Given the description of an element on the screen output the (x, y) to click on. 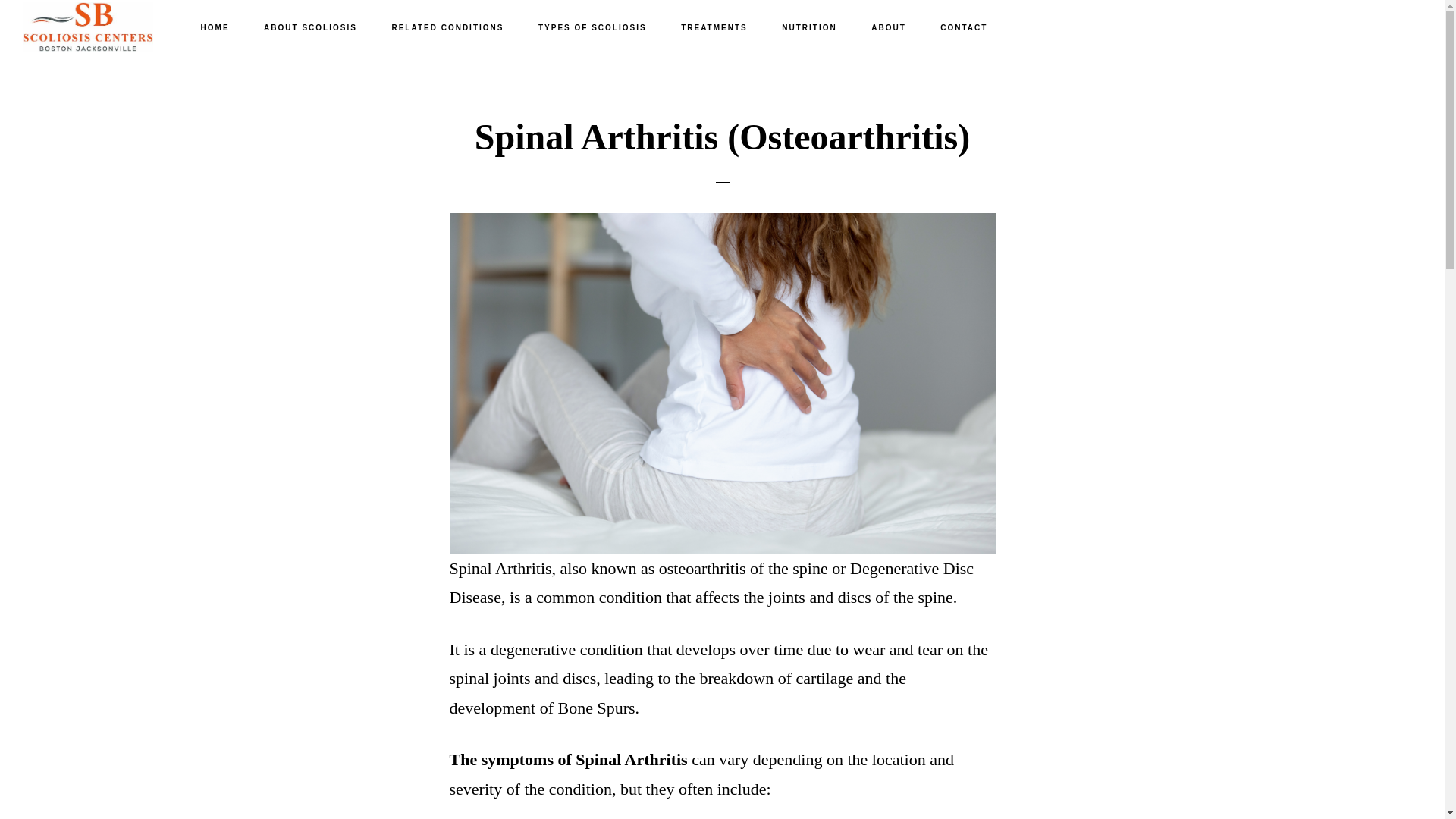
NUTRITION (809, 27)
HOME (215, 27)
RELATED CONDITIONS (446, 27)
ABOUT SCOLIOSIS (310, 27)
TYPES OF SCOLIOSIS (592, 27)
TREATMENTS (713, 27)
SCOLIOSIS CENTERS OF BOSTON MA AND JACKSONVILLE FL (98, 26)
CONTACT (963, 27)
ABOUT (888, 27)
